Given the description of an element on the screen output the (x, y) to click on. 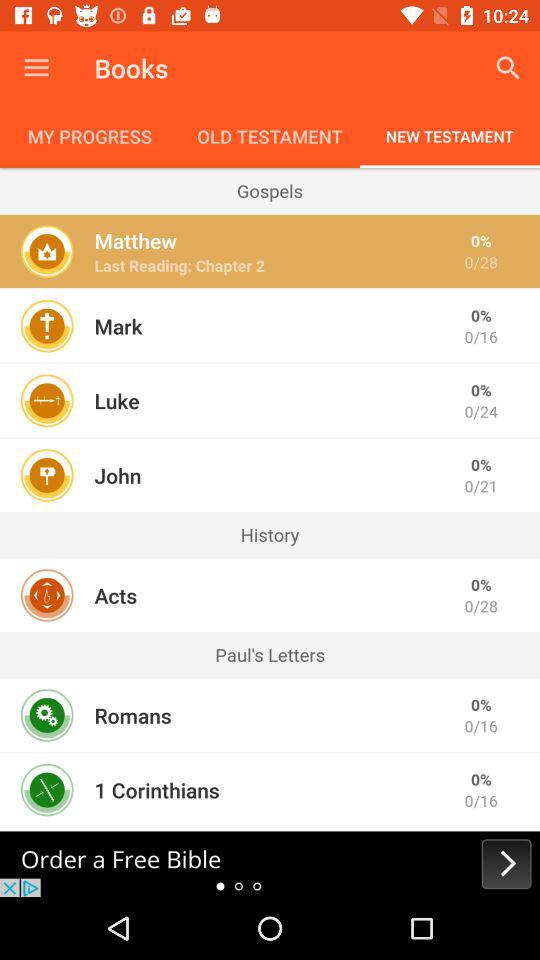
select item to the left of 0/16 item (156, 789)
